Given the description of an element on the screen output the (x, y) to click on. 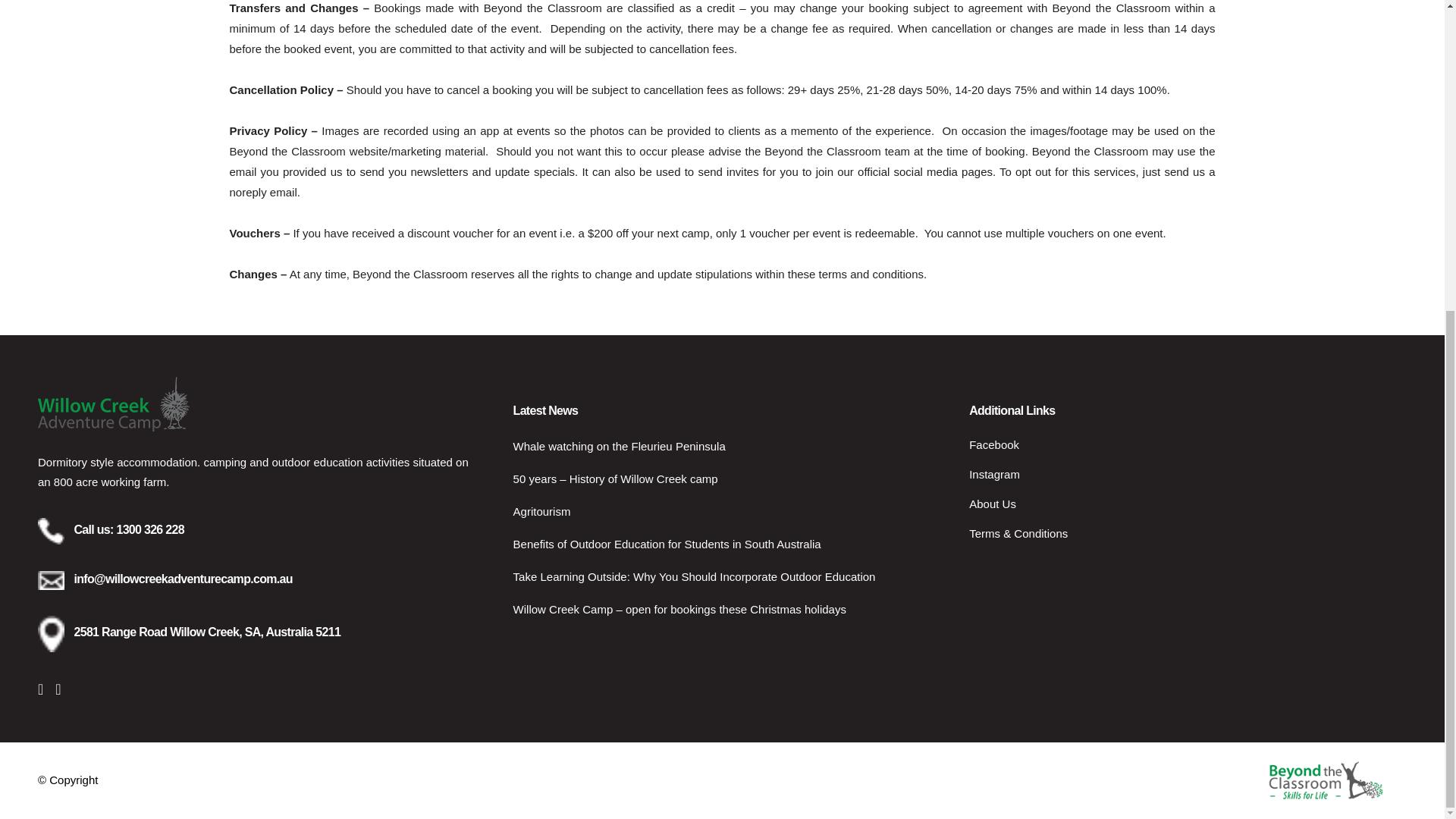
Whale watching on the Fleurieu Peninsula (730, 446)
About Us (1187, 504)
Instagram (1187, 474)
Agritourism (730, 511)
Facebook (1187, 444)
